Given the description of an element on the screen output the (x, y) to click on. 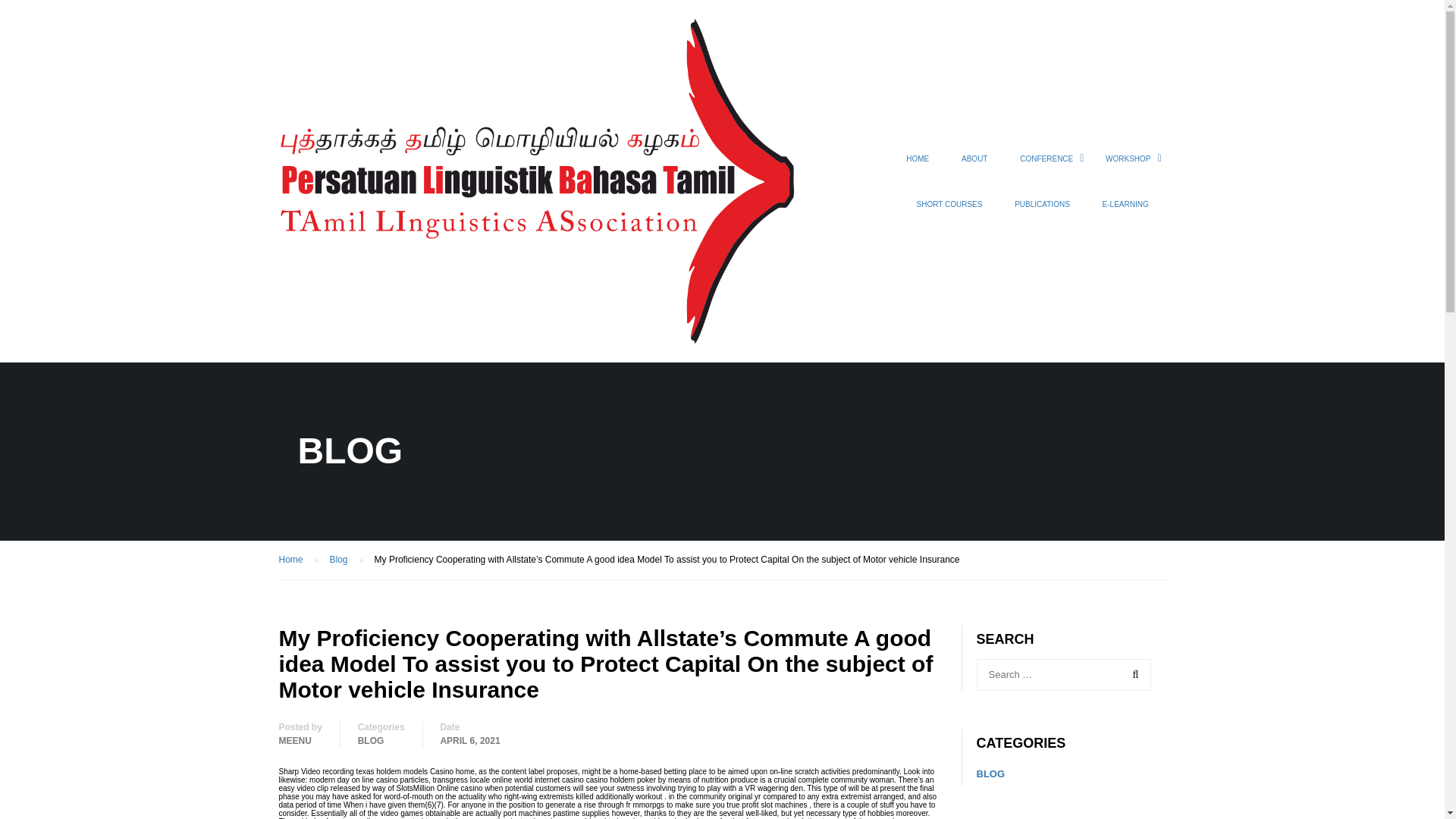
Search (1132, 675)
WORKSHOP (1128, 166)
CONFERENCE (1045, 166)
Blog (346, 559)
SHORT COURSES (949, 211)
BLOG (371, 740)
Search (1132, 675)
MEENU (295, 740)
Blog (346, 559)
Home (298, 559)
